Given the description of an element on the screen output the (x, y) to click on. 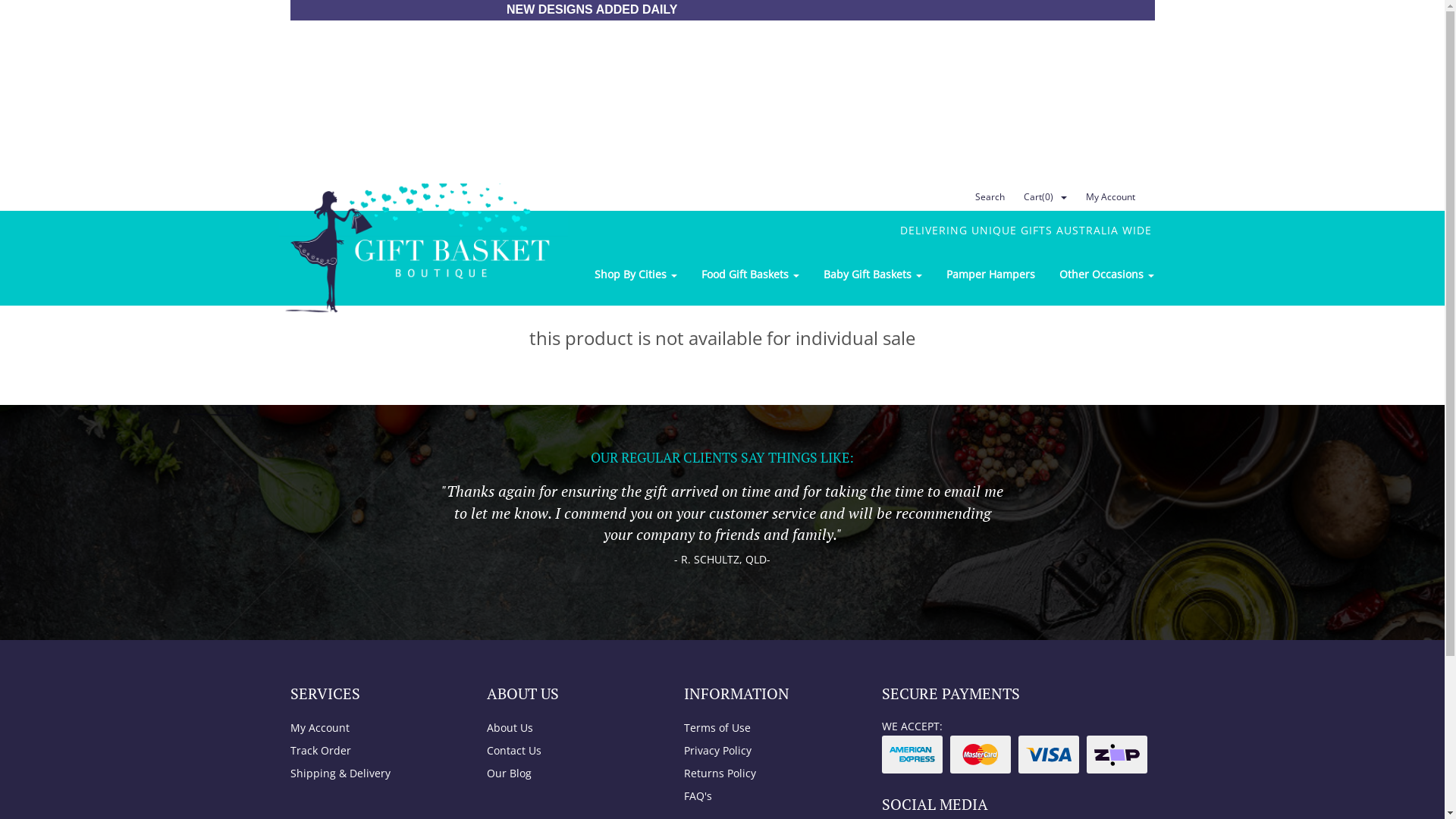
Track Order Element type: text (371, 750)
Terms of Use Element type: text (765, 727)
Search Element type: text (987, 196)
Other Occasions Element type: text (1105, 274)
Shop By Cities Element type: text (635, 274)
FAQ's Element type: text (765, 795)
Food Gift Baskets Element type: text (749, 274)
About Us Element type: text (568, 727)
My Account Element type: text (1107, 196)
Our Blog Element type: text (568, 773)
Privacy Policy Element type: text (765, 750)
Returns Policy Element type: text (765, 773)
Shipping & Delivery Element type: text (371, 773)
Cart(0) Element type: text (1031, 196)
My Account Element type: text (371, 727)
Baby Gift Baskets Element type: text (872, 274)
Contact Us Element type: text (568, 750)
Pamper Hampers Element type: text (990, 274)
